Given the description of an element on the screen output the (x, y) to click on. 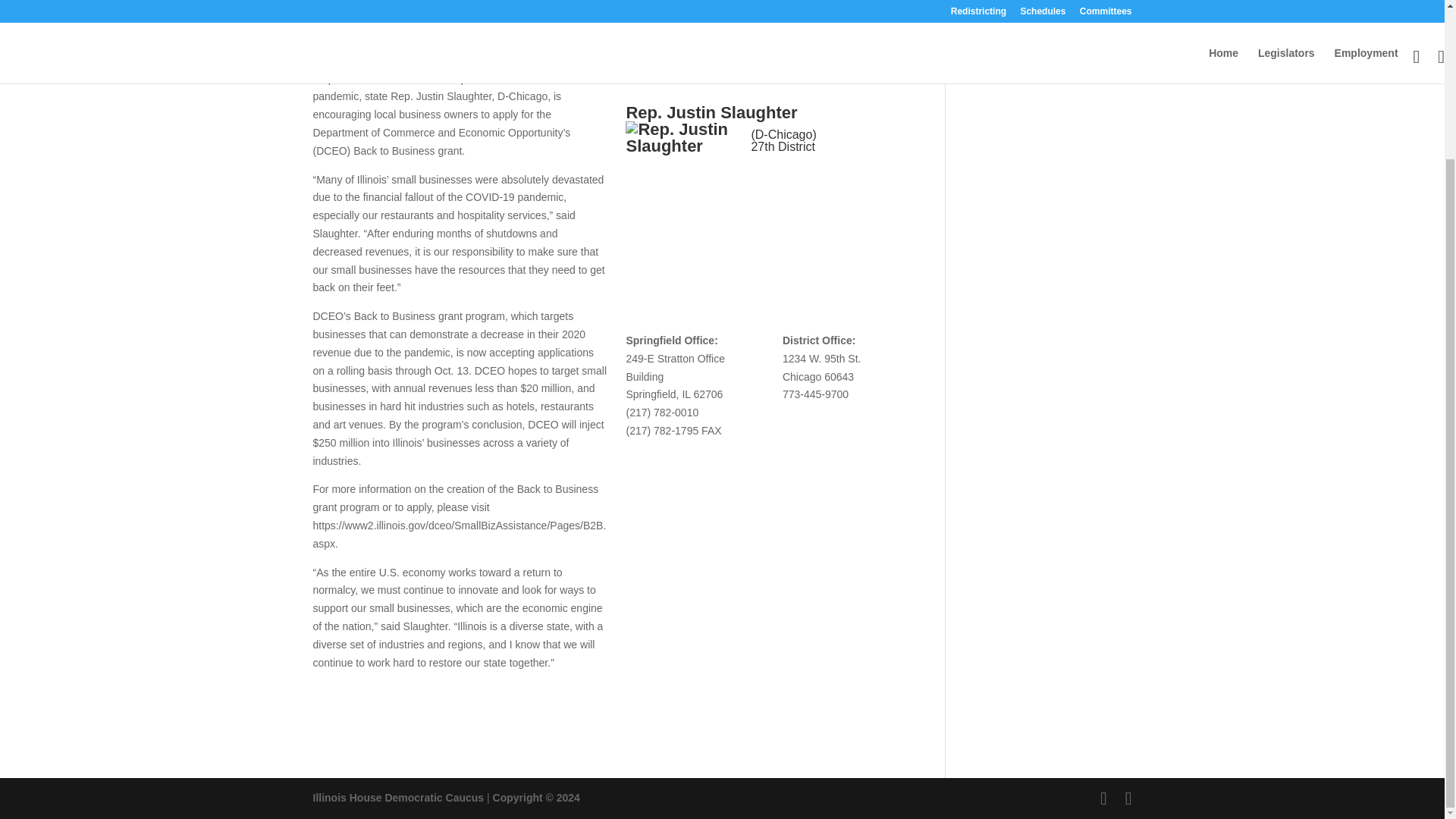
Slaughter (406, 4)
IL House Democrats (398, 797)
Illinois House Democratic Caucus (398, 797)
Follow on Facebook (762, 181)
